Given the description of an element on the screen output the (x, y) to click on. 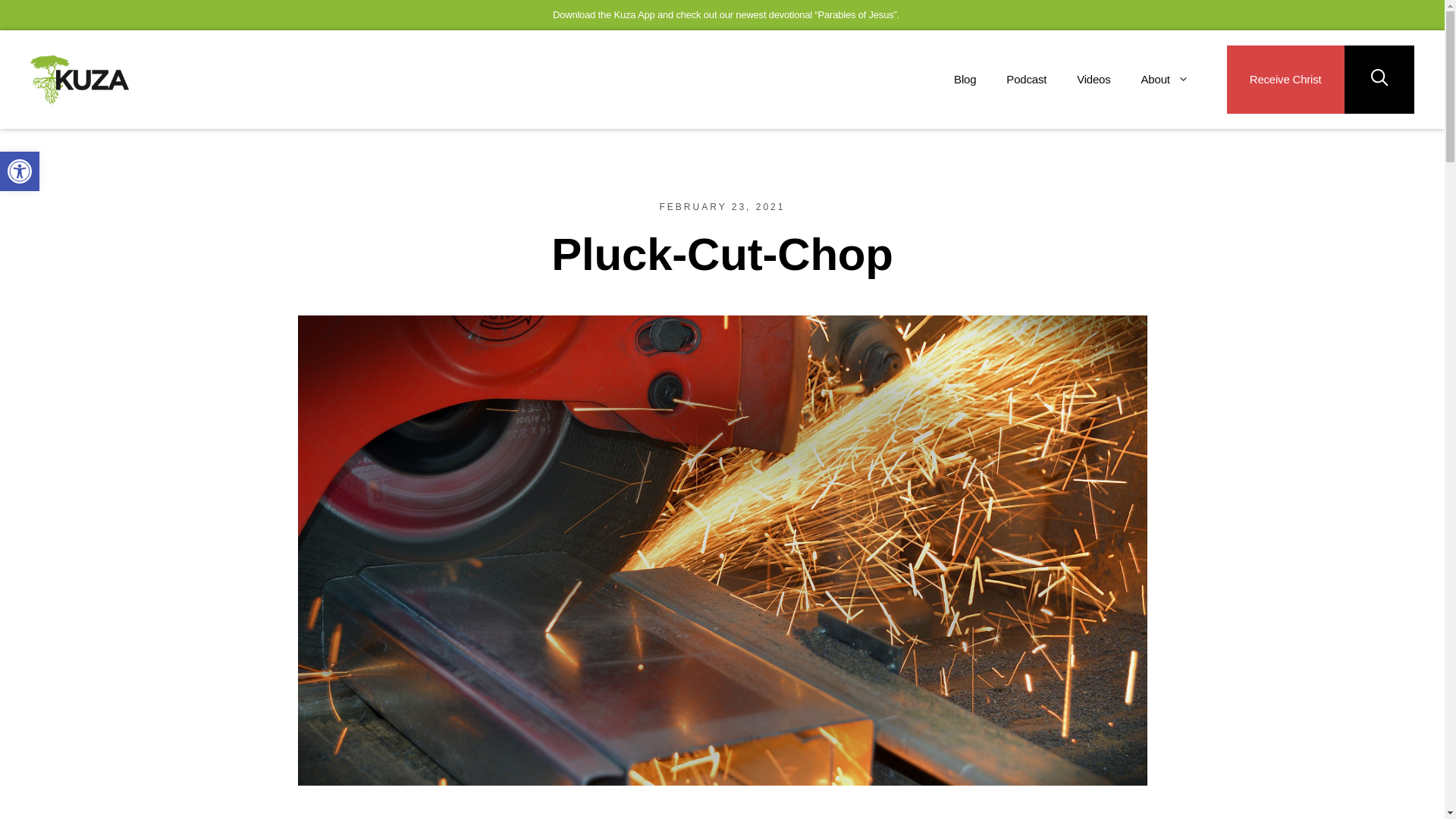
Receive Christ (1285, 79)
Accessibility Tools (19, 170)
Accessibility Tools (19, 170)
About (1164, 79)
Podcast (1026, 79)
Blog (965, 79)
Videos (1093, 79)
